Given the description of an element on the screen output the (x, y) to click on. 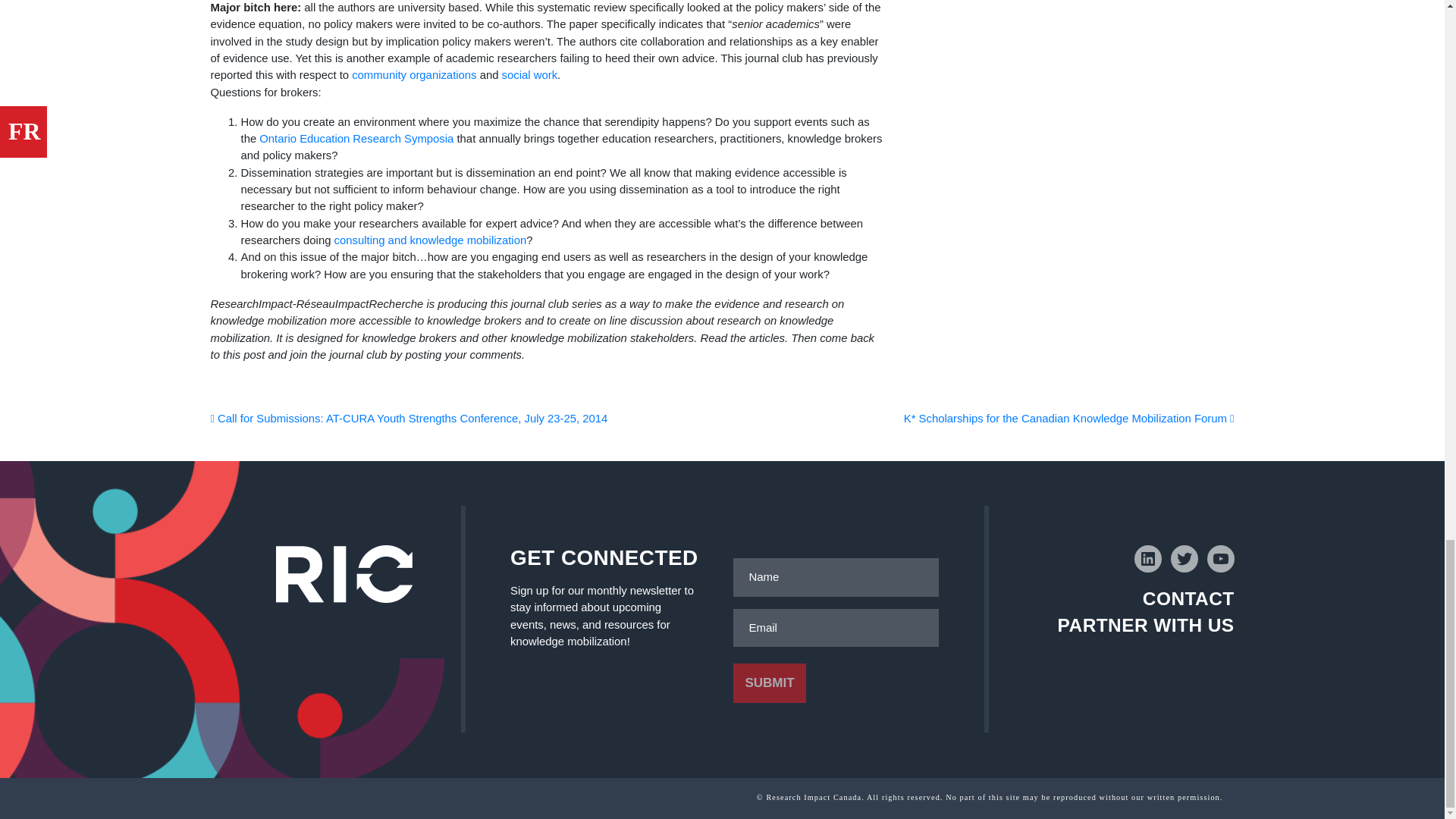
Ontario Education Research Symposia (355, 138)
Submit (769, 682)
CONTACT (1188, 598)
consulting and knowledge mobilization (430, 240)
community organizations (414, 74)
social work (529, 74)
Submit (769, 682)
